Given the description of an element on the screen output the (x, y) to click on. 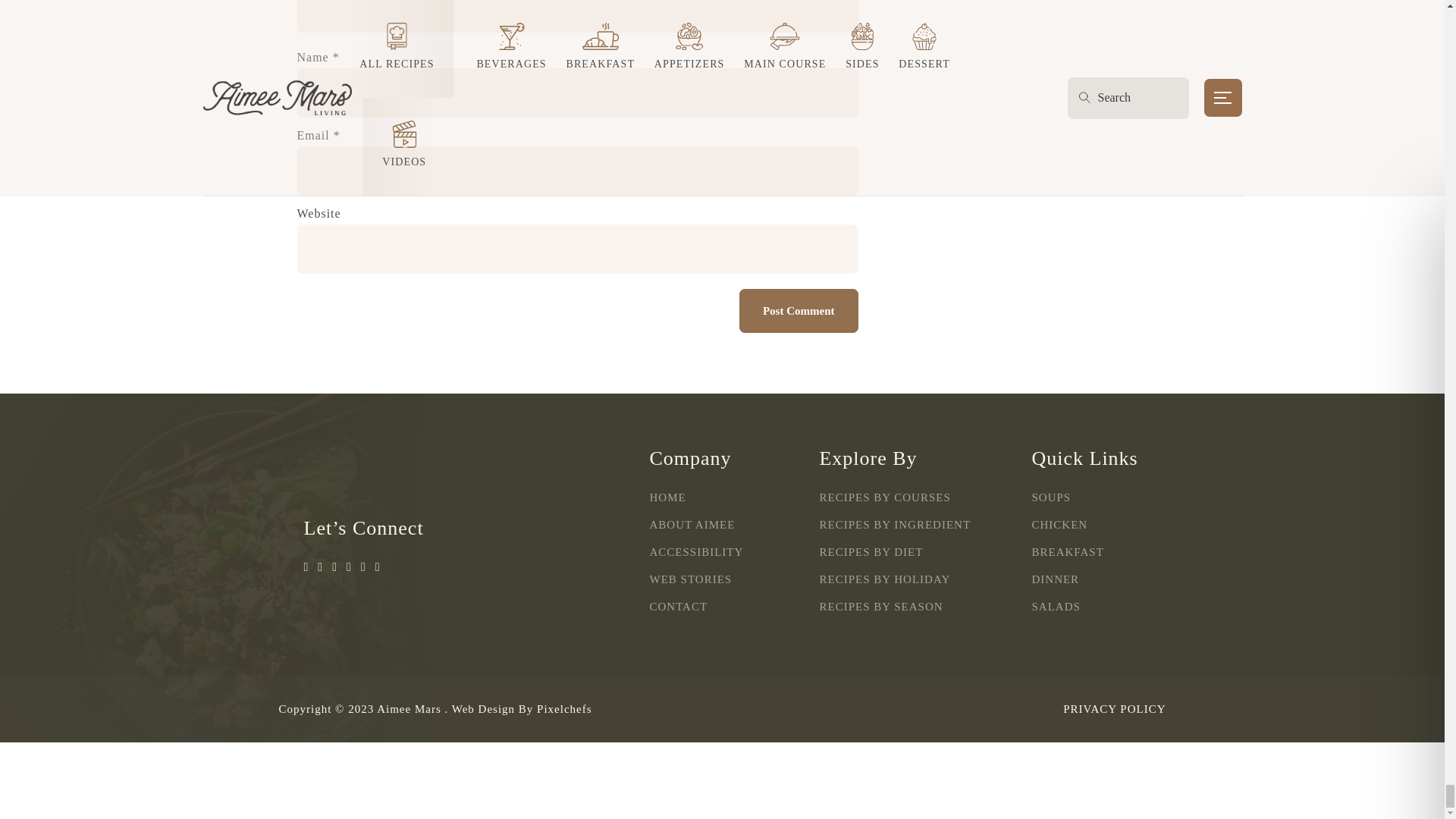
Post Comment (799, 310)
